Given the description of an element on the screen output the (x, y) to click on. 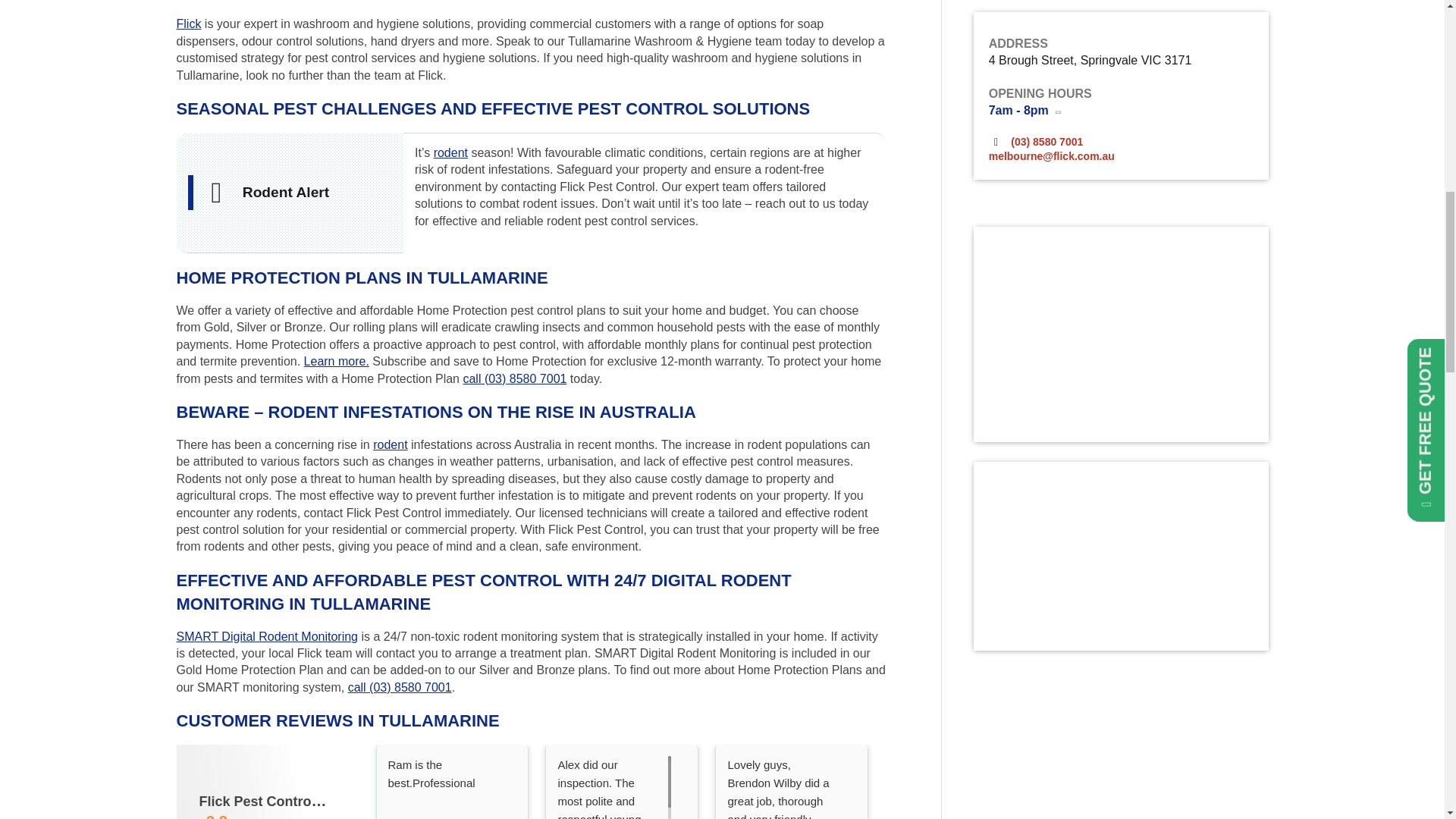
Ram is the best.Professional (445, 787)
